Given the description of an element on the screen output the (x, y) to click on. 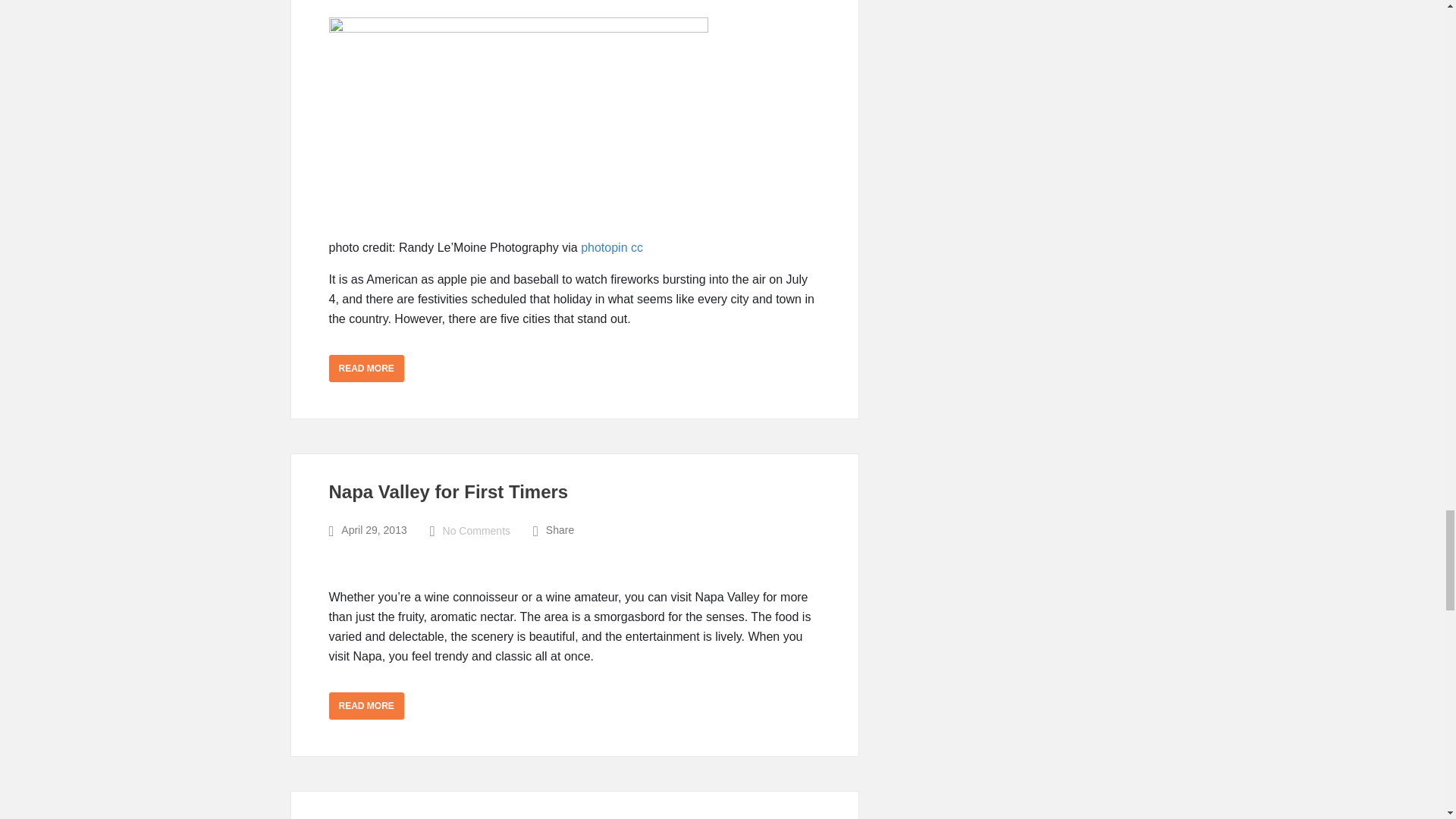
Share (559, 530)
April 29, 2013 (373, 530)
photopin (603, 246)
Happy 4th of July! (518, 128)
No Comments (476, 530)
READ MORE (366, 705)
Napa Valley for First Timers (449, 491)
cc (636, 246)
READ MORE (366, 368)
